Given the description of an element on the screen output the (x, y) to click on. 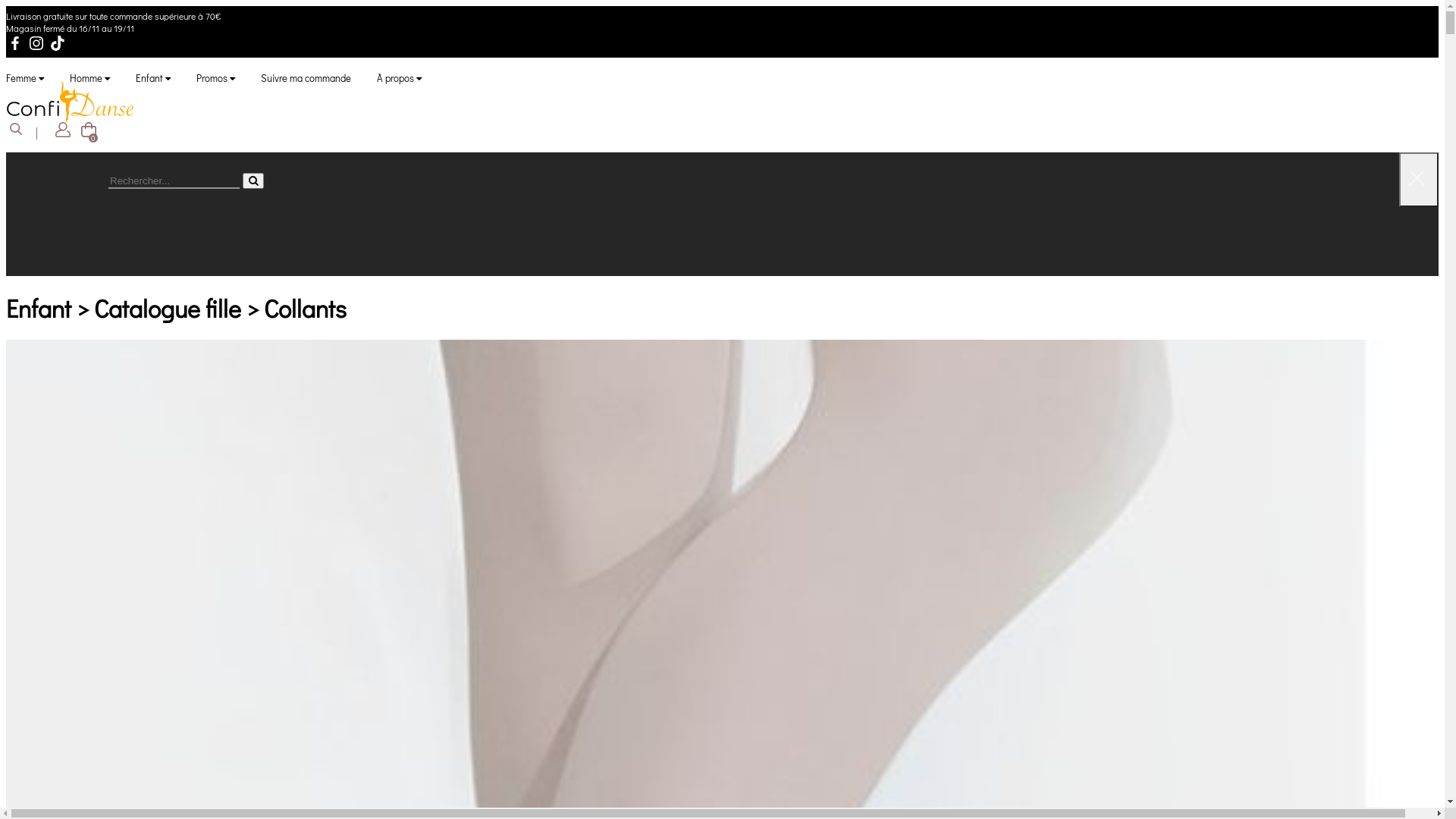
CONFI DANSE Element type: hover (70, 100)
Promos Element type: text (215, 77)
Enfant Element type: text (152, 77)
0 Element type: text (88, 132)
Homme Element type: text (89, 77)
Femme Element type: text (24, 77)
Suivre ma commande Element type: text (305, 77)
